Given the description of an element on the screen output the (x, y) to click on. 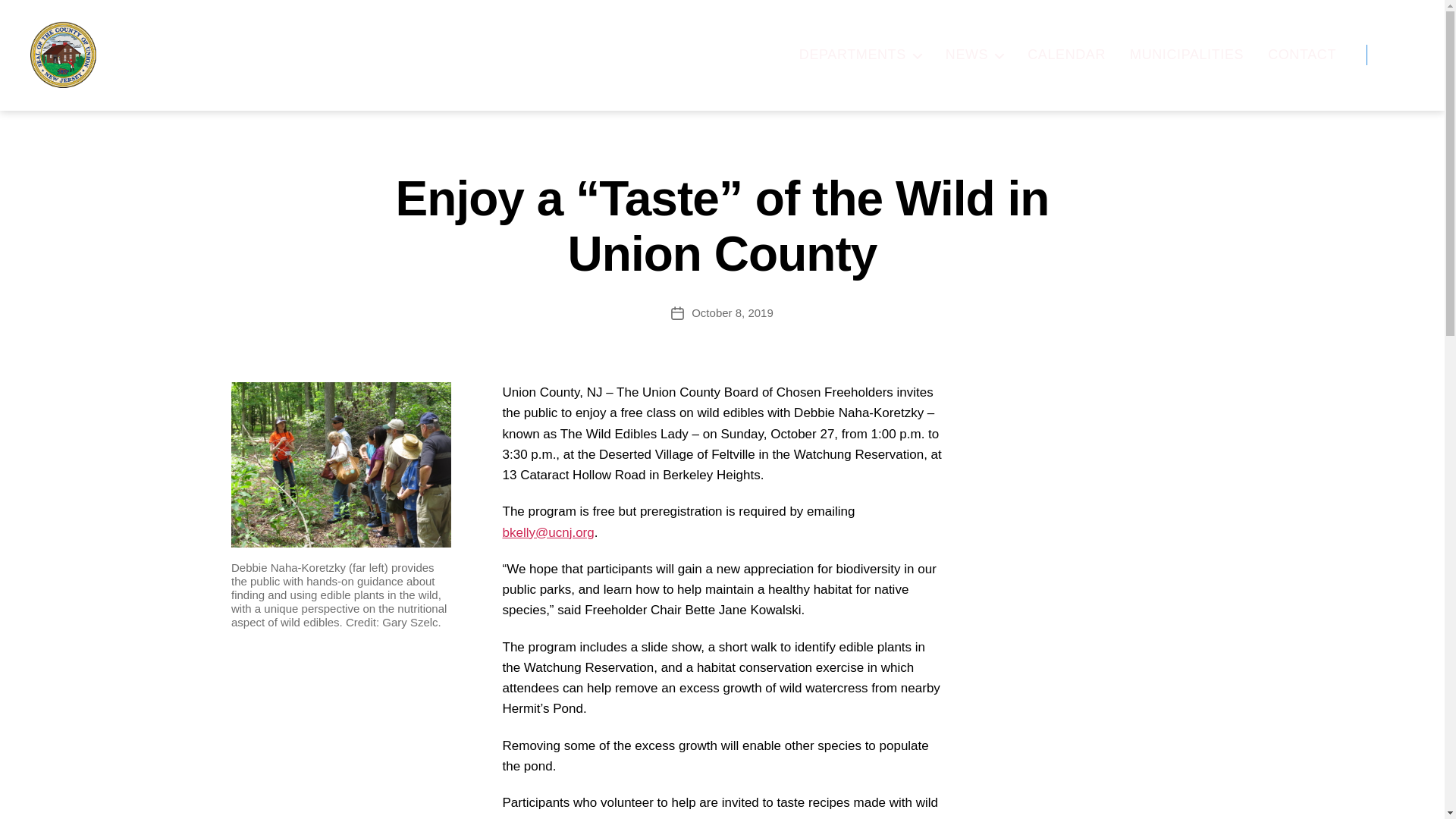
CONTACT (1302, 54)
CALENDAR (1066, 54)
NEWS (973, 54)
DEPARTMENTS (860, 54)
MUNICIPALITIES (1186, 54)
